Given the description of an element on the screen output the (x, y) to click on. 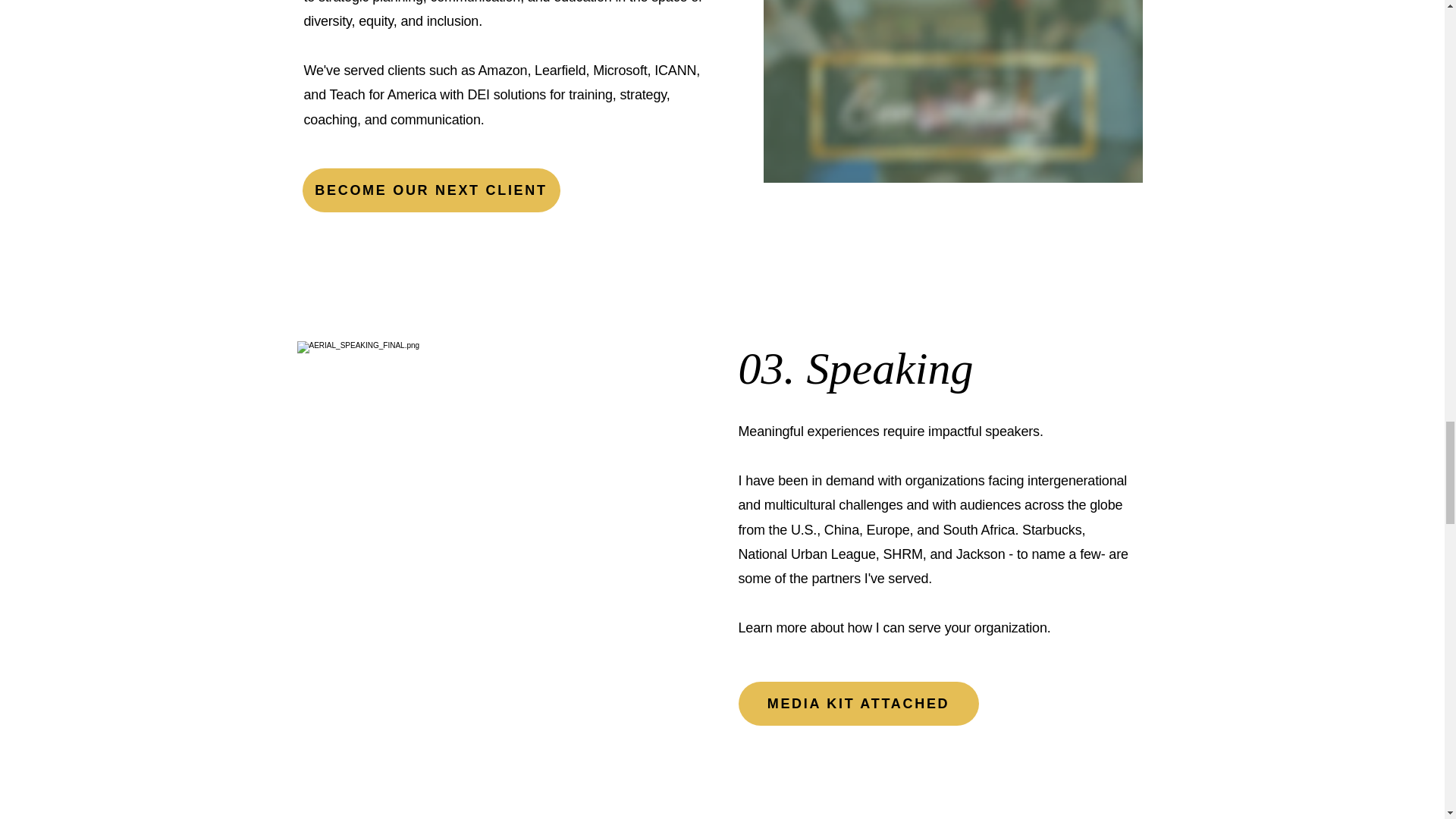
BECOME OUR NEXT CLIENT (430, 190)
MEDIA KIT ATTACHED (858, 703)
